Given the description of an element on the screen output the (x, y) to click on. 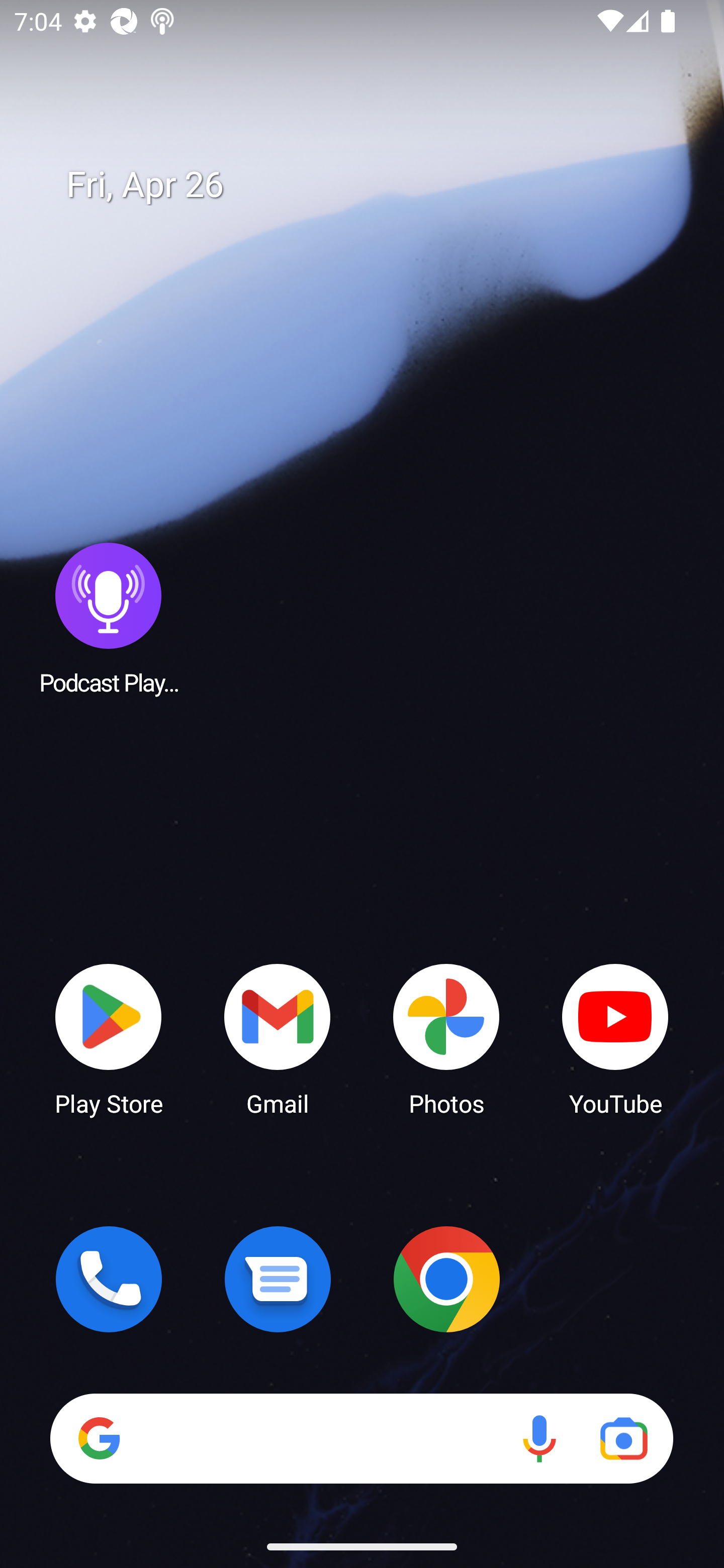
Fri, Apr 26 (375, 184)
Podcast Player (108, 617)
Play Store (108, 1038)
Gmail (277, 1038)
Photos (445, 1038)
YouTube (615, 1038)
Phone (108, 1279)
Messages (277, 1279)
Chrome (446, 1279)
Search Voice search Google Lens (361, 1438)
Voice search (539, 1438)
Google Lens (623, 1438)
